Given the description of an element on the screen output the (x, y) to click on. 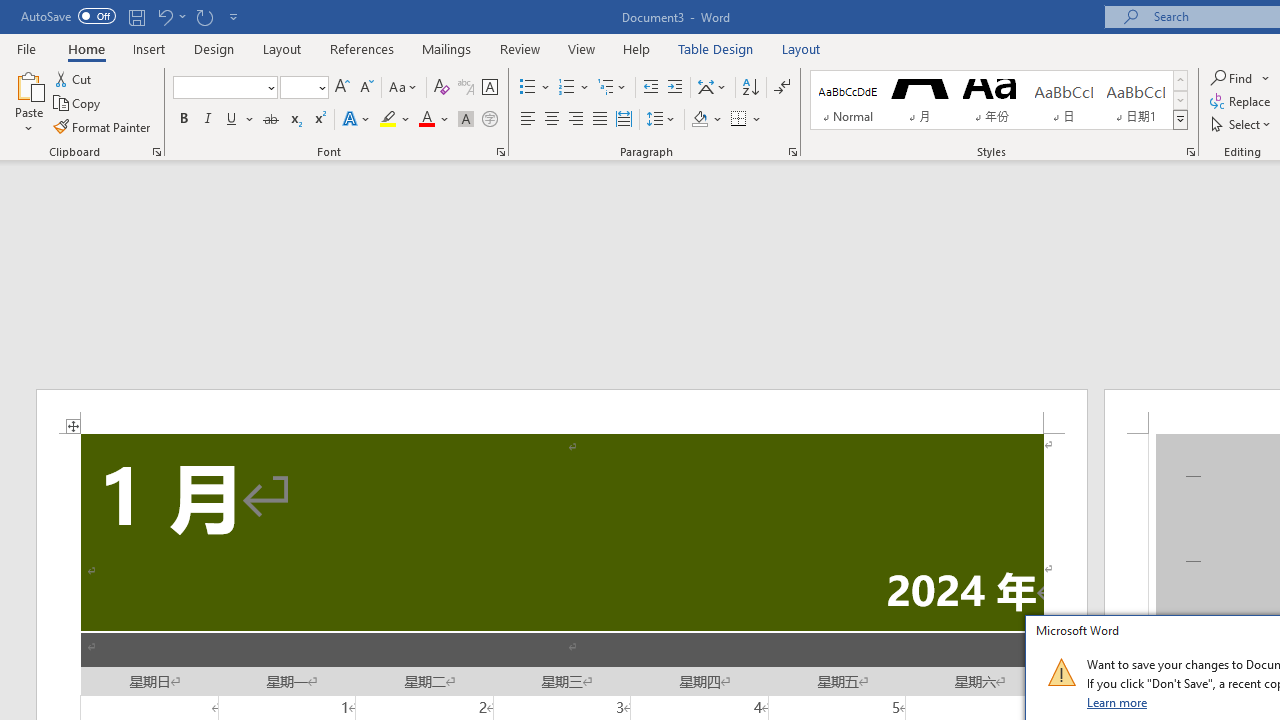
Undo Apply Quick Style (164, 15)
Text Effects and Typography (357, 119)
Character Border (489, 87)
Text Highlight Color (395, 119)
Font Color RGB(255, 0, 0) (426, 119)
Find (1233, 78)
Change Case (404, 87)
Multilevel List (613, 87)
Underline (232, 119)
Cut (73, 78)
Paragraph... (792, 151)
Shading (706, 119)
